Given the description of an element on the screen output the (x, y) to click on. 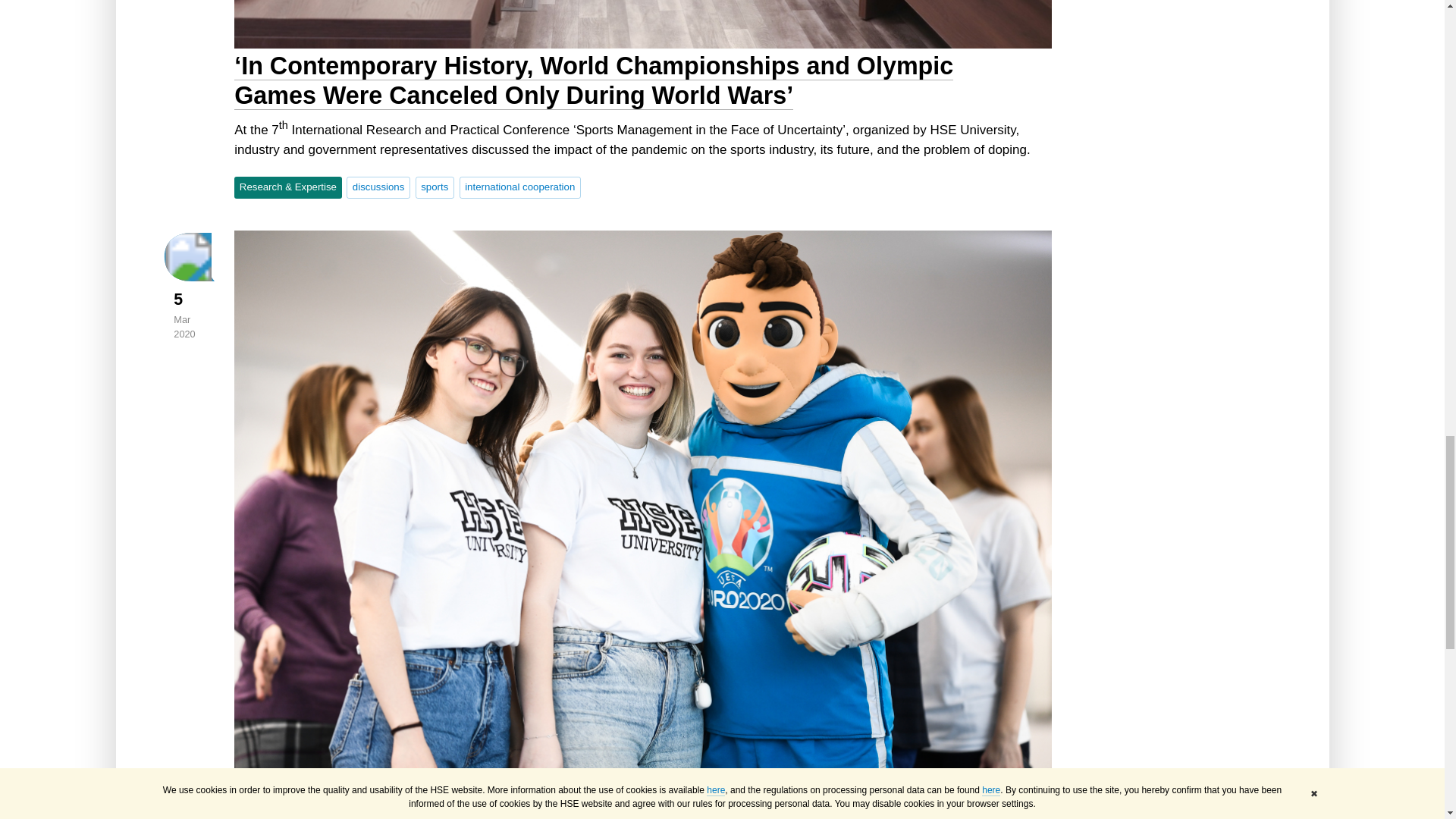
sports (434, 187)
discussions (378, 187)
international cooperation (520, 187)
